Given the description of an element on the screen output the (x, y) to click on. 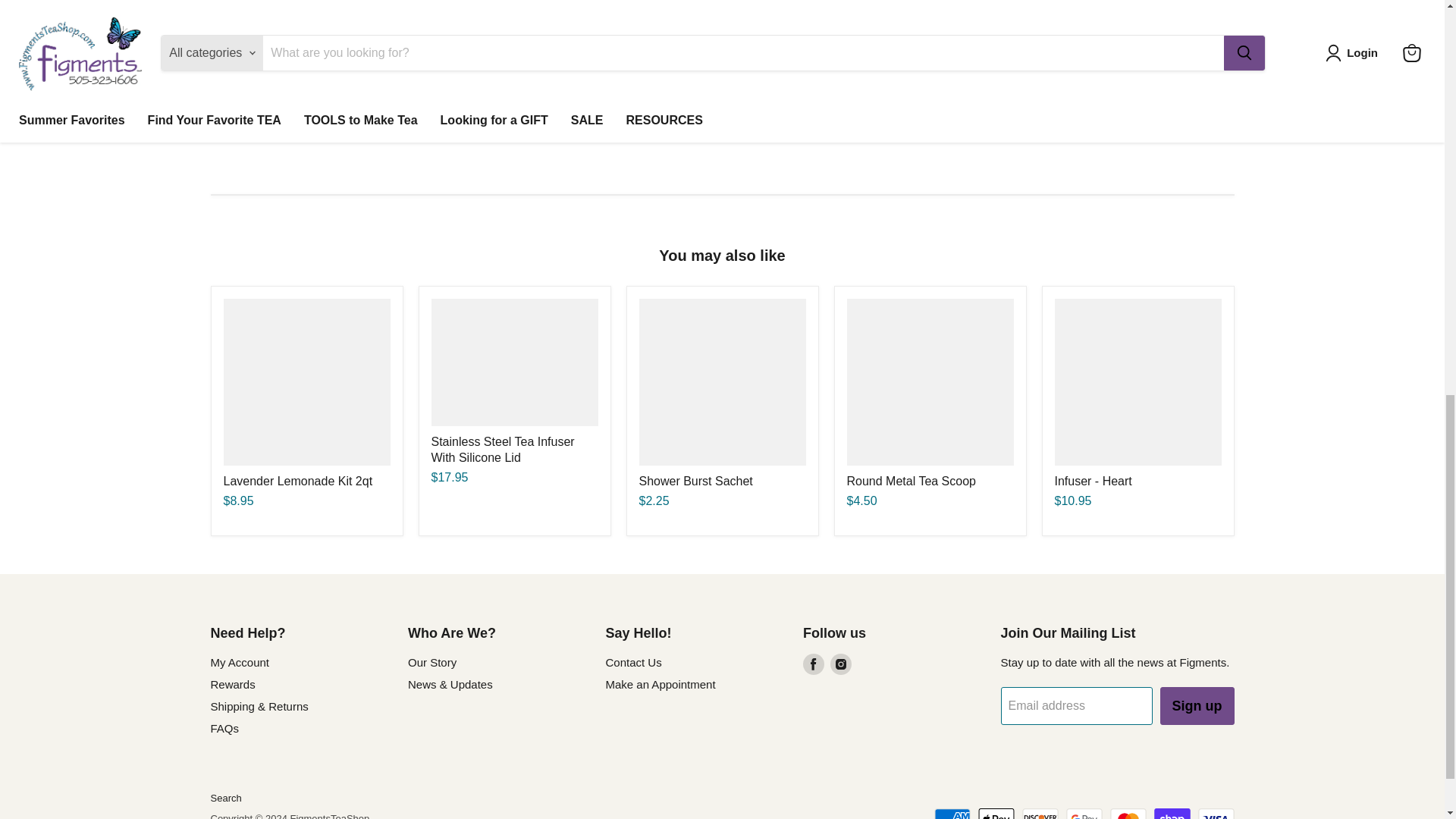
Visa (1216, 813)
Google Pay (1083, 813)
Apple Pay (996, 813)
Facebook (813, 663)
Lavender Lemonade Kit 2qt (297, 481)
American Express (952, 813)
Mastercard (1128, 813)
Discover (1040, 813)
Shop Pay (1172, 813)
Instagram (840, 663)
